Given the description of an element on the screen output the (x, y) to click on. 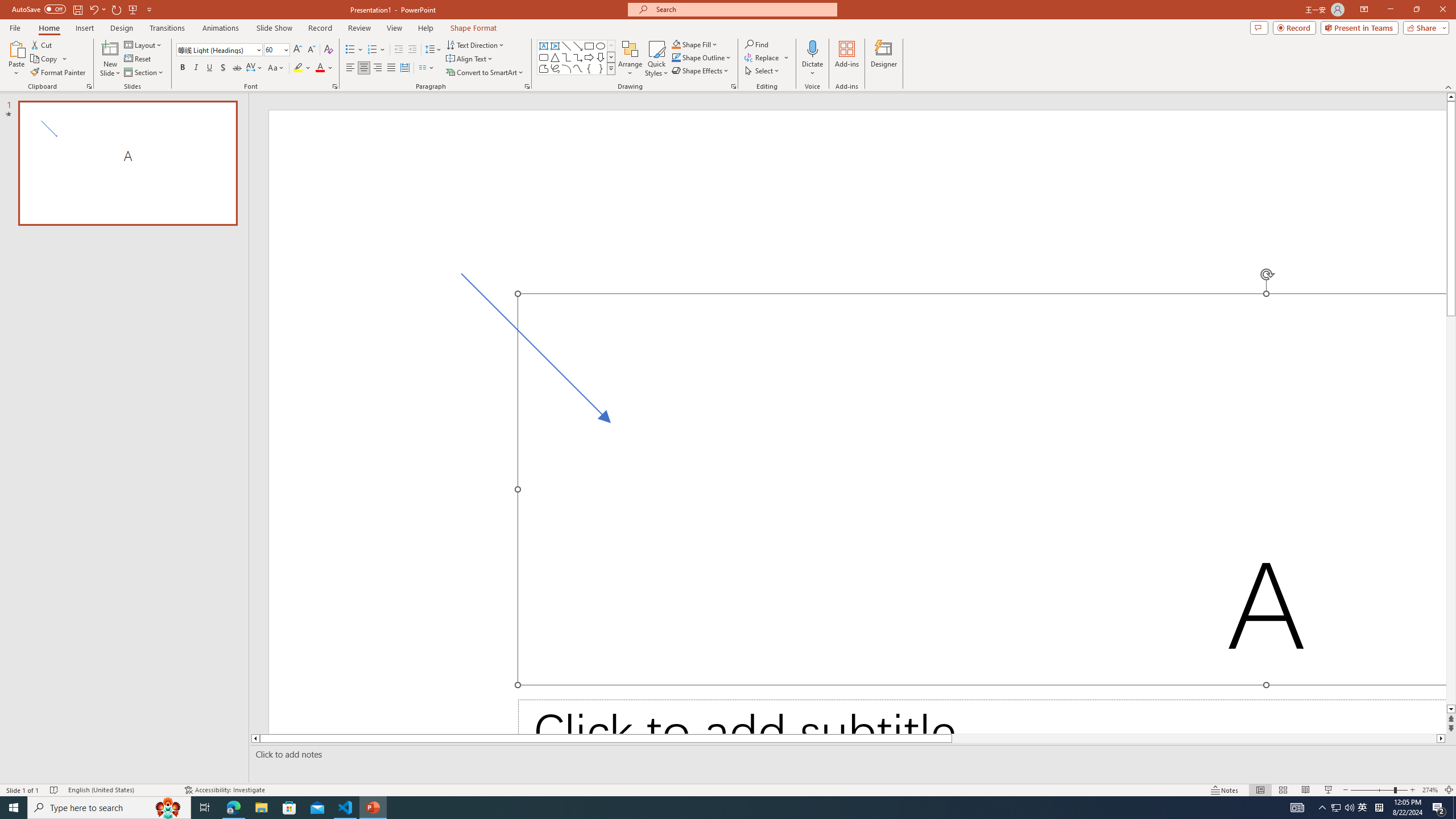
Subtitle TextBox (981, 716)
Zoom 274% (1430, 790)
